Given the description of an element on the screen output the (x, y) to click on. 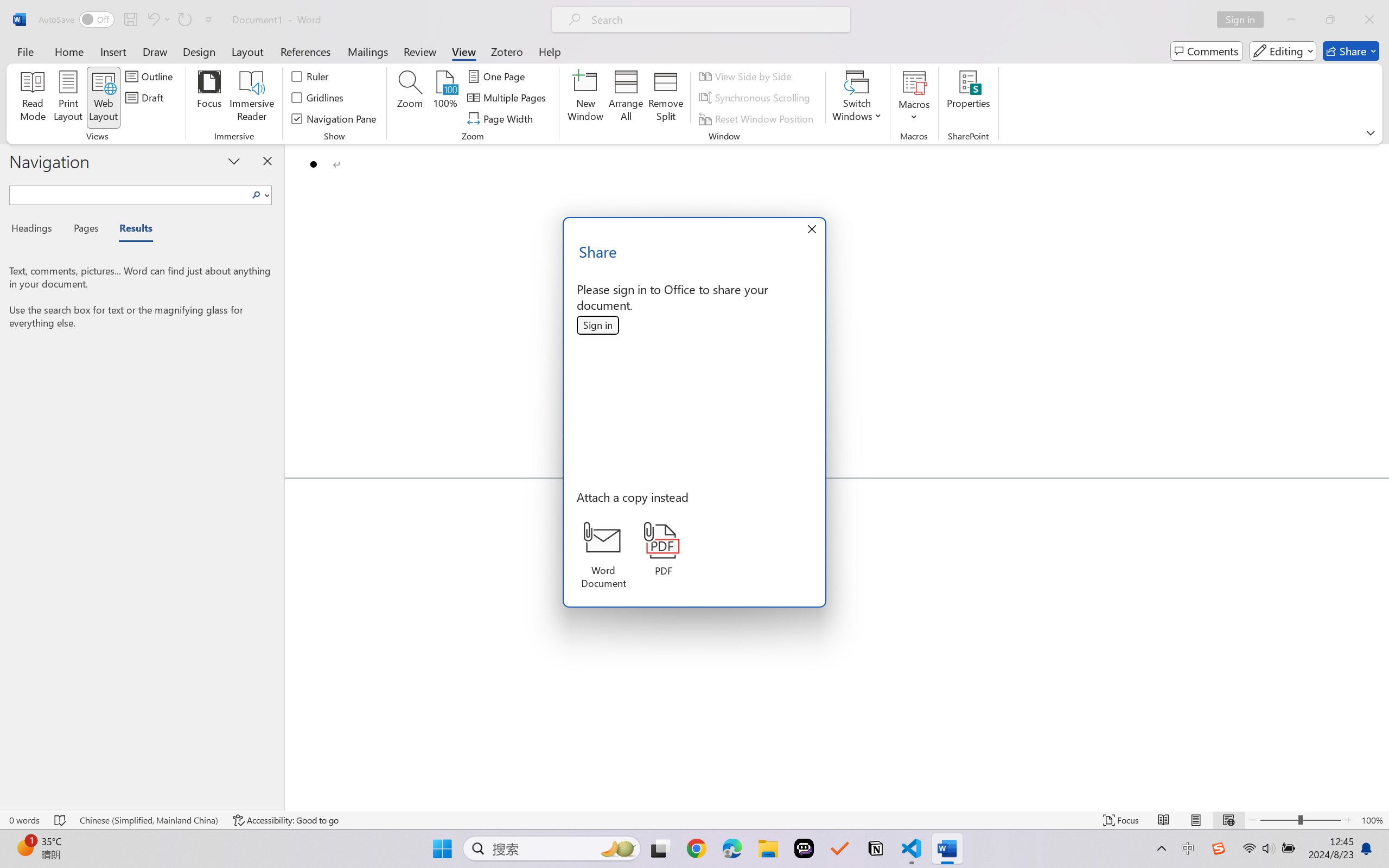
Undo Bullet Default (152, 19)
Microsoft Edge (731, 848)
Pages (85, 229)
Properties (967, 97)
Focus (209, 97)
